Given the description of an element on the screen output the (x, y) to click on. 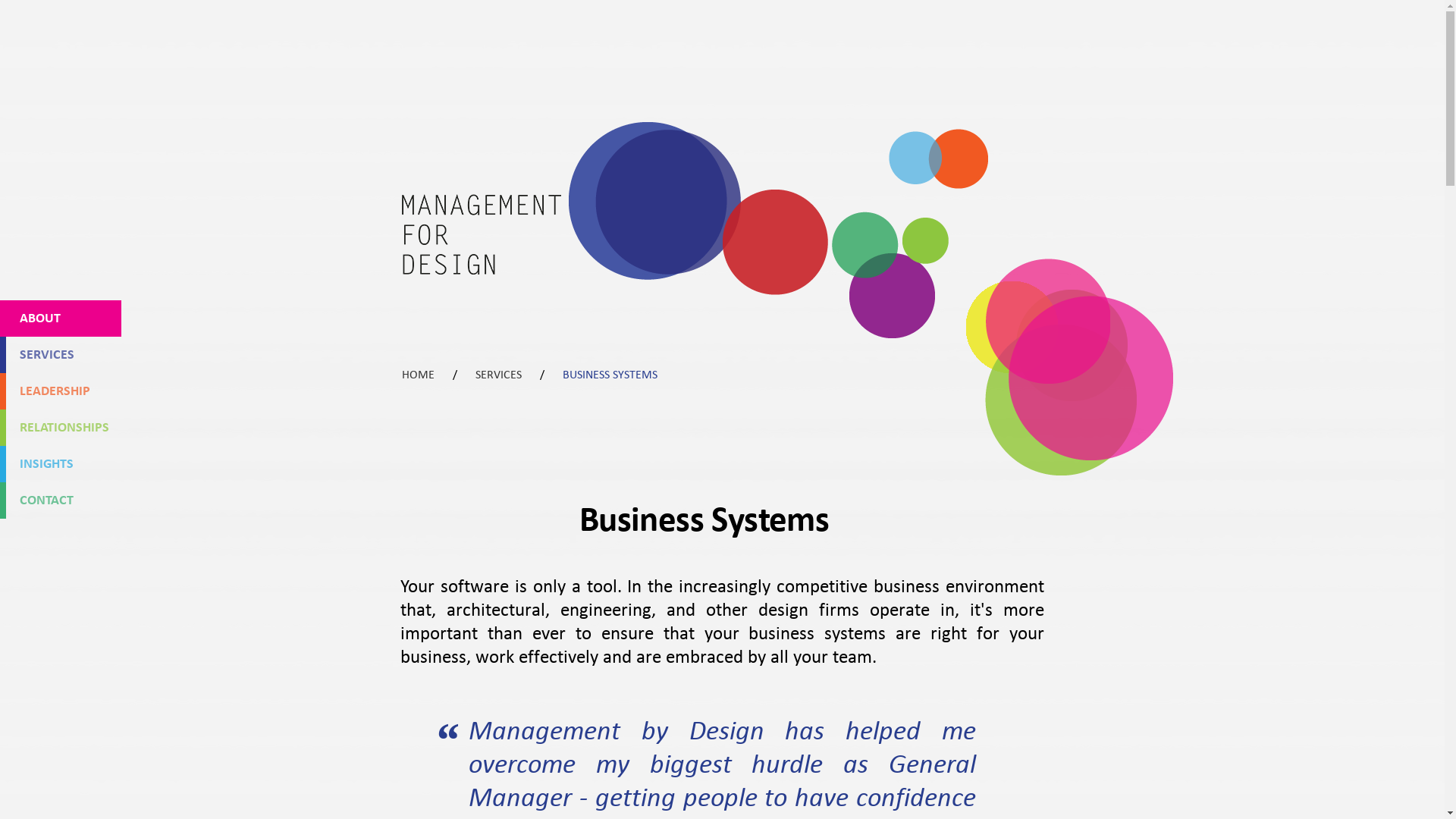
BUSINESS SYSTEMS Element type: text (609, 375)
INSIGHTS Element type: text (3, 463)
SERVICES Element type: text (3, 354)
CONTACT Element type: text (3, 500)
SERVICES Element type: text (498, 375)
ABOUT Element type: text (60, 318)
RELATIONSHIPS Element type: text (3, 427)
ABOUT Element type: text (3, 318)
HOME Element type: text (417, 375)
LEADERSHIP Element type: text (3, 391)
